Given the description of an element on the screen output the (x, y) to click on. 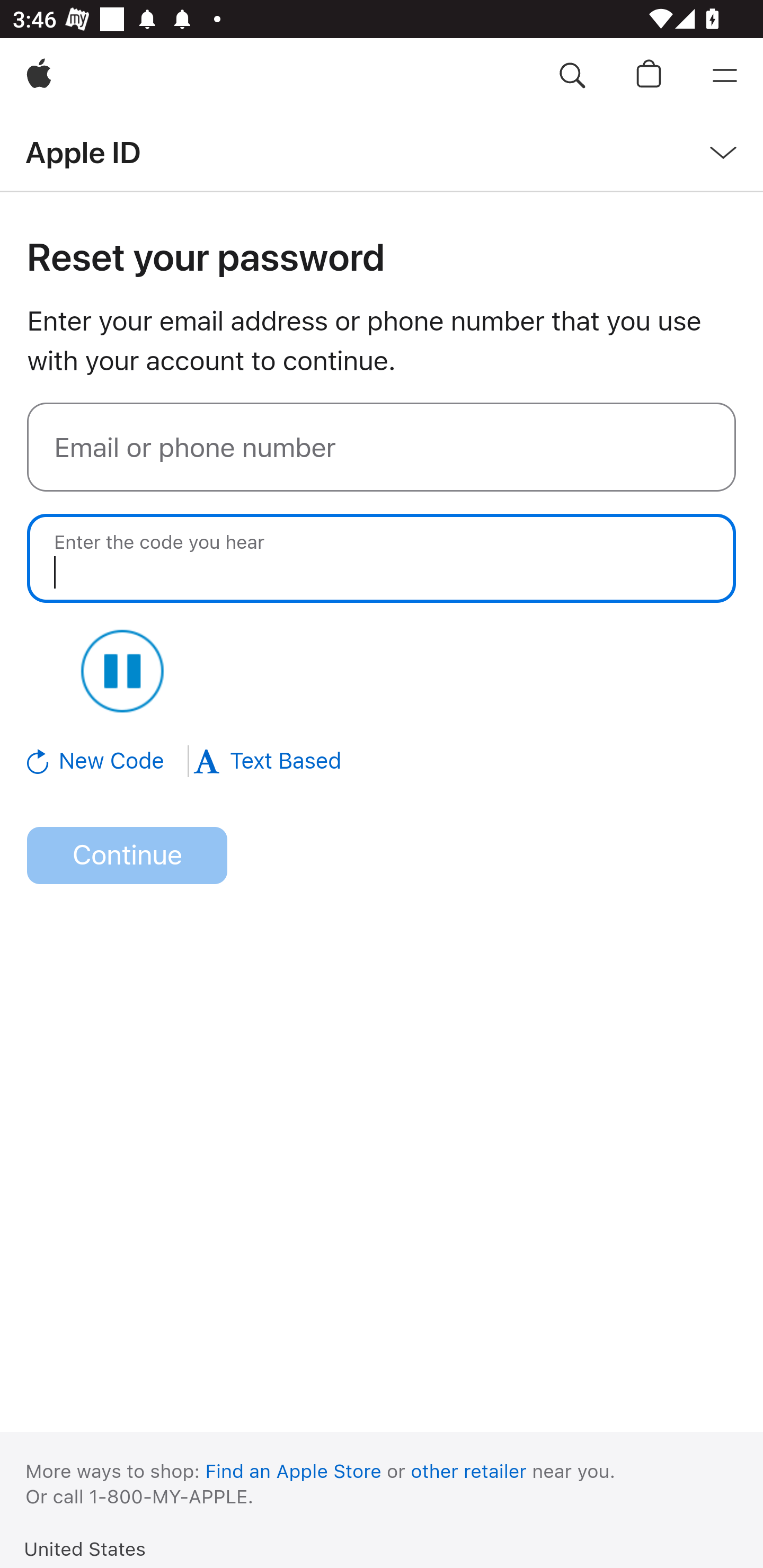
Apple (38, 75)
Search apple.com (572, 75)
Shopping Bag (648, 75)
Menu (724, 75)
Apple ID (83, 151)
Pause audio challenge (121, 671)
 New Code (108, 760)
 Text Based (266, 760)
Continue (126, 855)
Find an Apple Store (293, 1470)
other retailer (468, 1470)
United States (84, 1548)
